Given the description of an element on the screen output the (x, y) to click on. 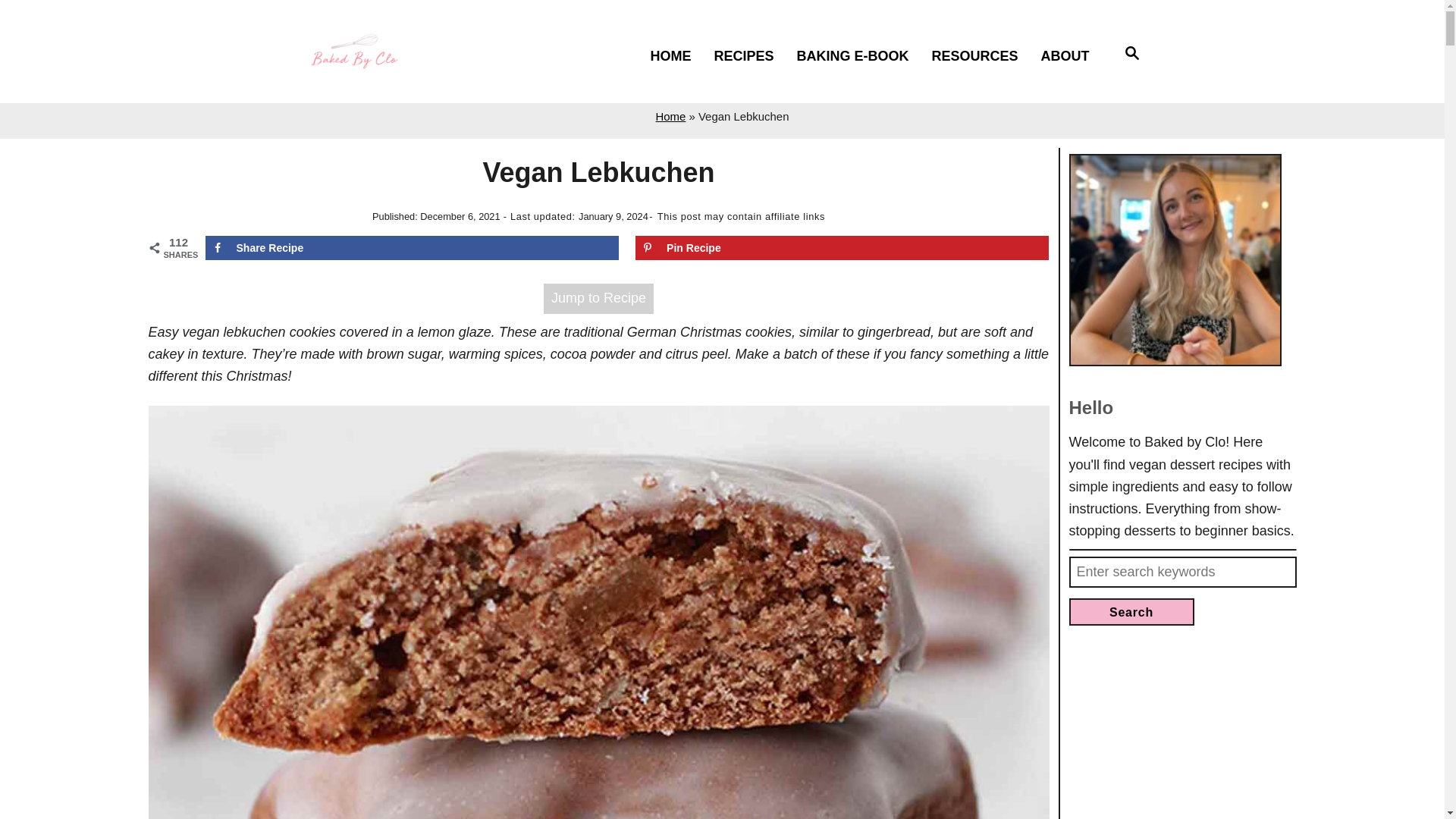
Search for: (1182, 572)
HOME (677, 55)
RESOURCES (980, 55)
Search (1130, 611)
ABOUT (1070, 55)
Search (1132, 54)
Share Recipe (411, 247)
Search (1130, 611)
Jump to Recipe (598, 297)
BAKING E-BOOK (859, 55)
Home (670, 115)
RECIPES (750, 55)
Share on Facebook (411, 247)
Pin Recipe (841, 247)
Save to Pinterest (841, 247)
